Given the description of an element on the screen output the (x, y) to click on. 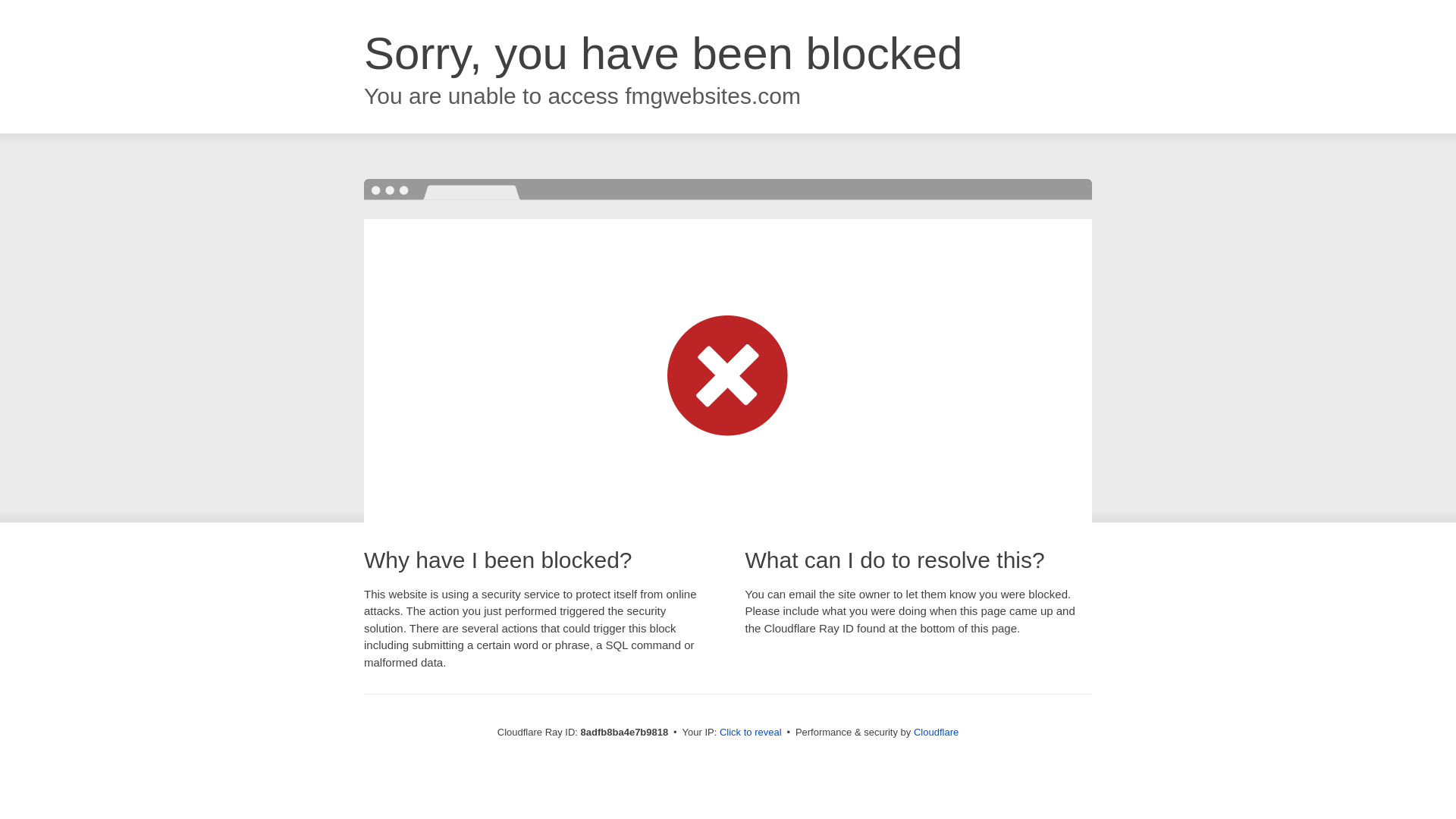
Cloudflare (936, 731)
Click to reveal (750, 732)
